Given the description of an element on the screen output the (x, y) to click on. 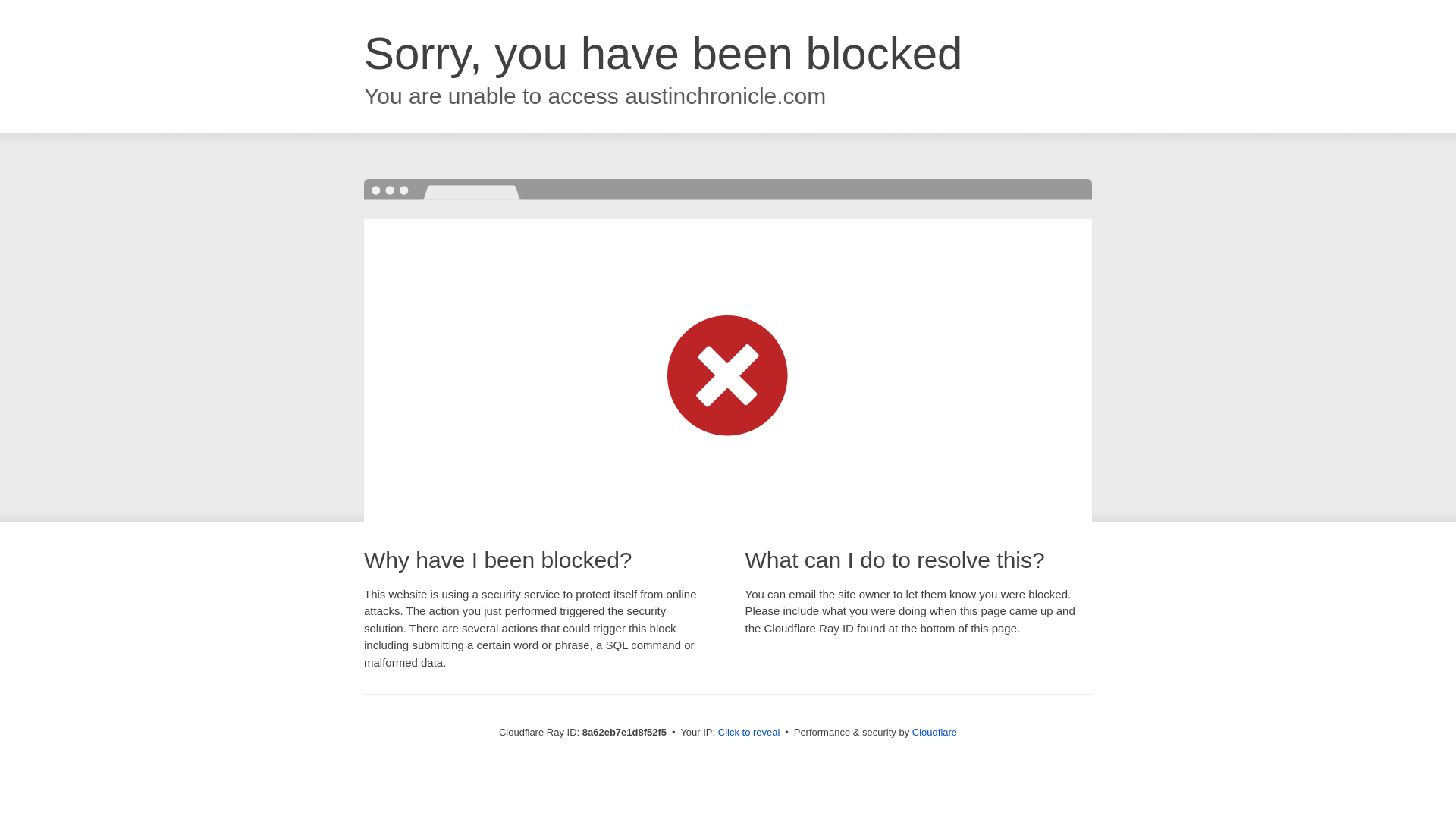
Click to reveal (748, 732)
Cloudflare (934, 731)
